Given the description of an element on the screen output the (x, y) to click on. 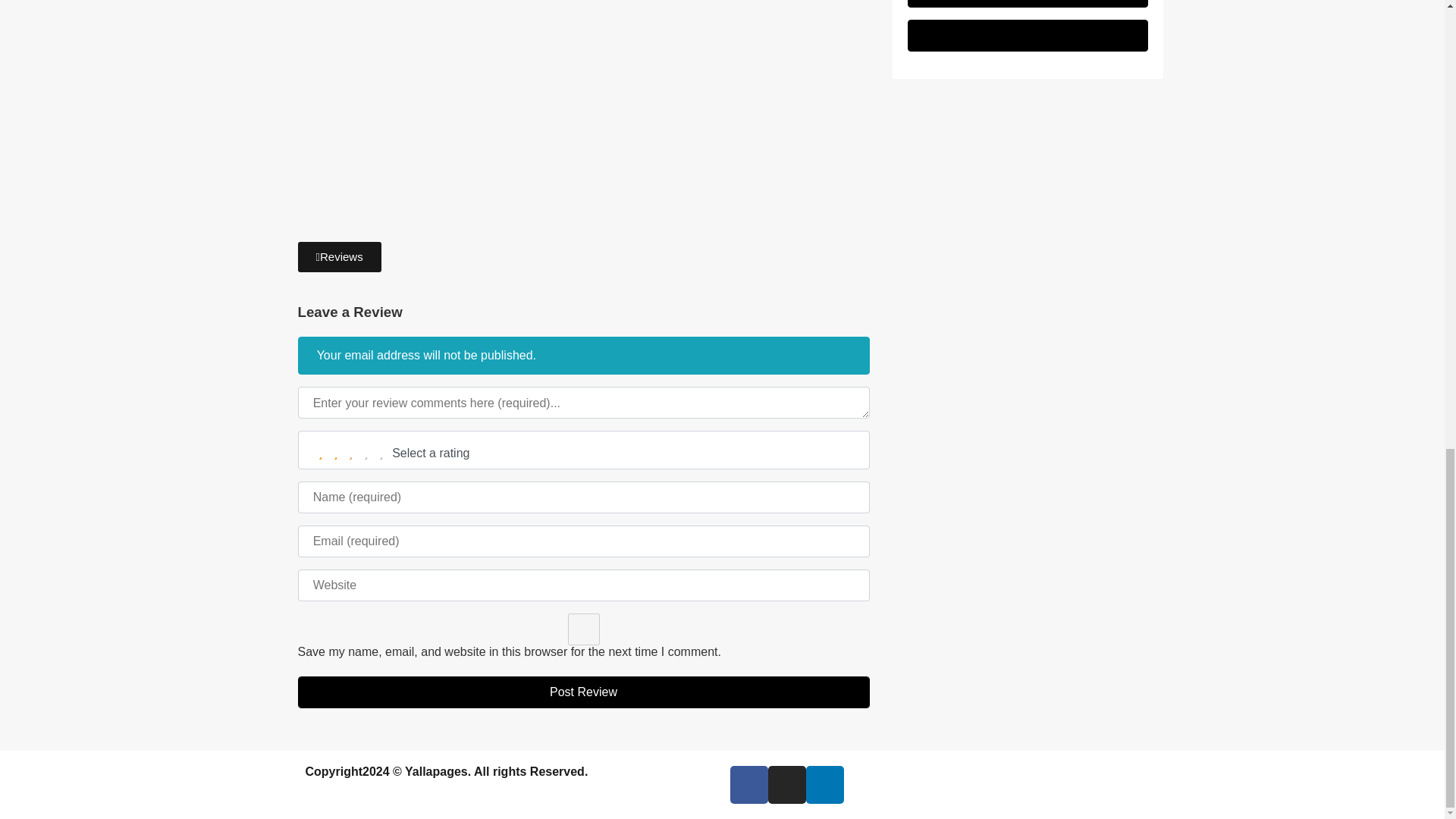
Average (350, 453)
Reviews (338, 256)
Excellent (381, 453)
Very Good (366, 453)
yes (583, 629)
Poor (336, 453)
Advanced Filters (1027, 35)
Post Review (583, 692)
Post Review (583, 692)
Search (1027, 3)
